Given the description of an element on the screen output the (x, y) to click on. 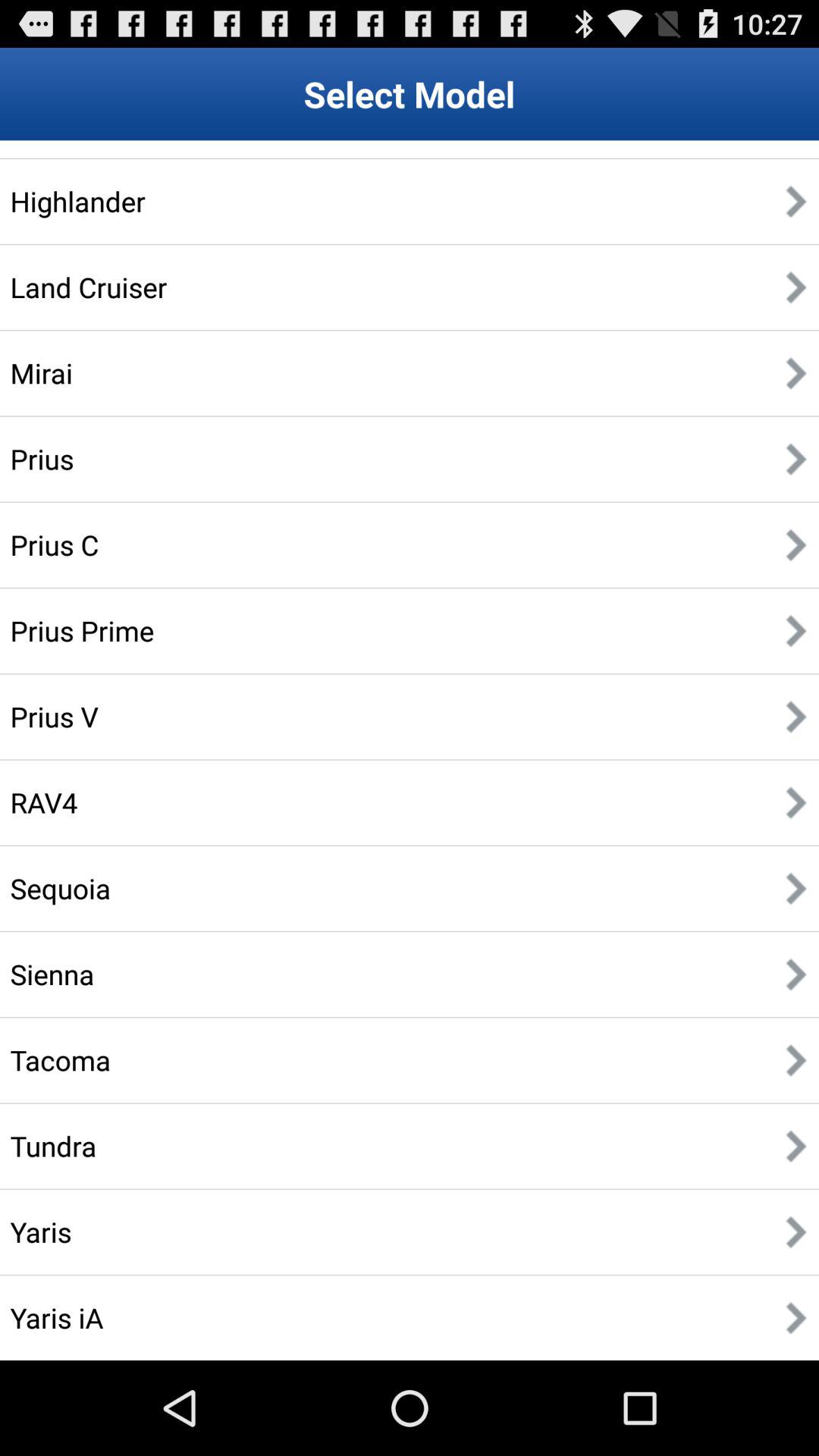
launch the icon below the prius v item (43, 802)
